Given the description of an element on the screen output the (x, y) to click on. 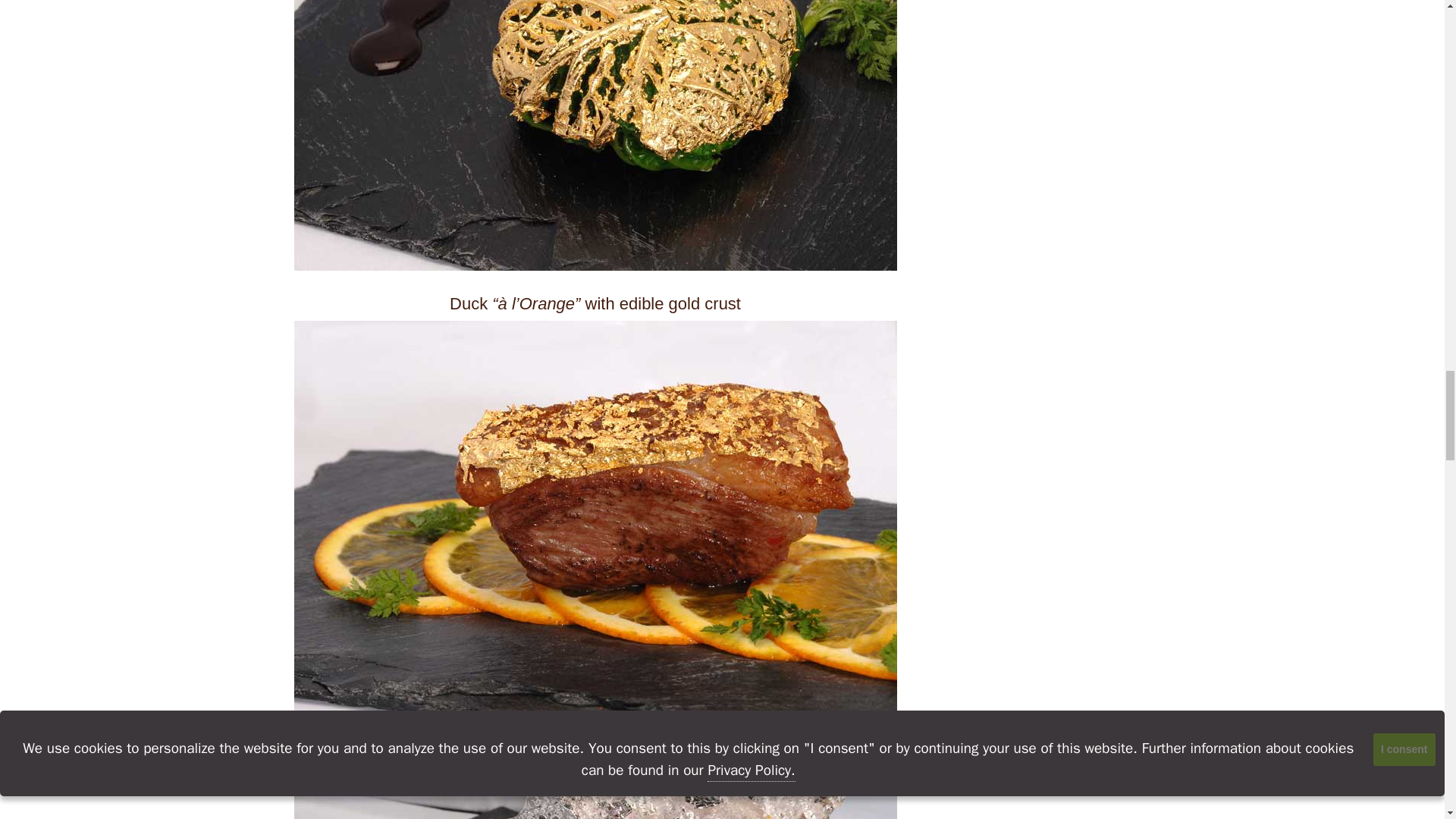
Fresh berries with gold and silver Tuiles (595, 791)
